Given the description of an element on the screen output the (x, y) to click on. 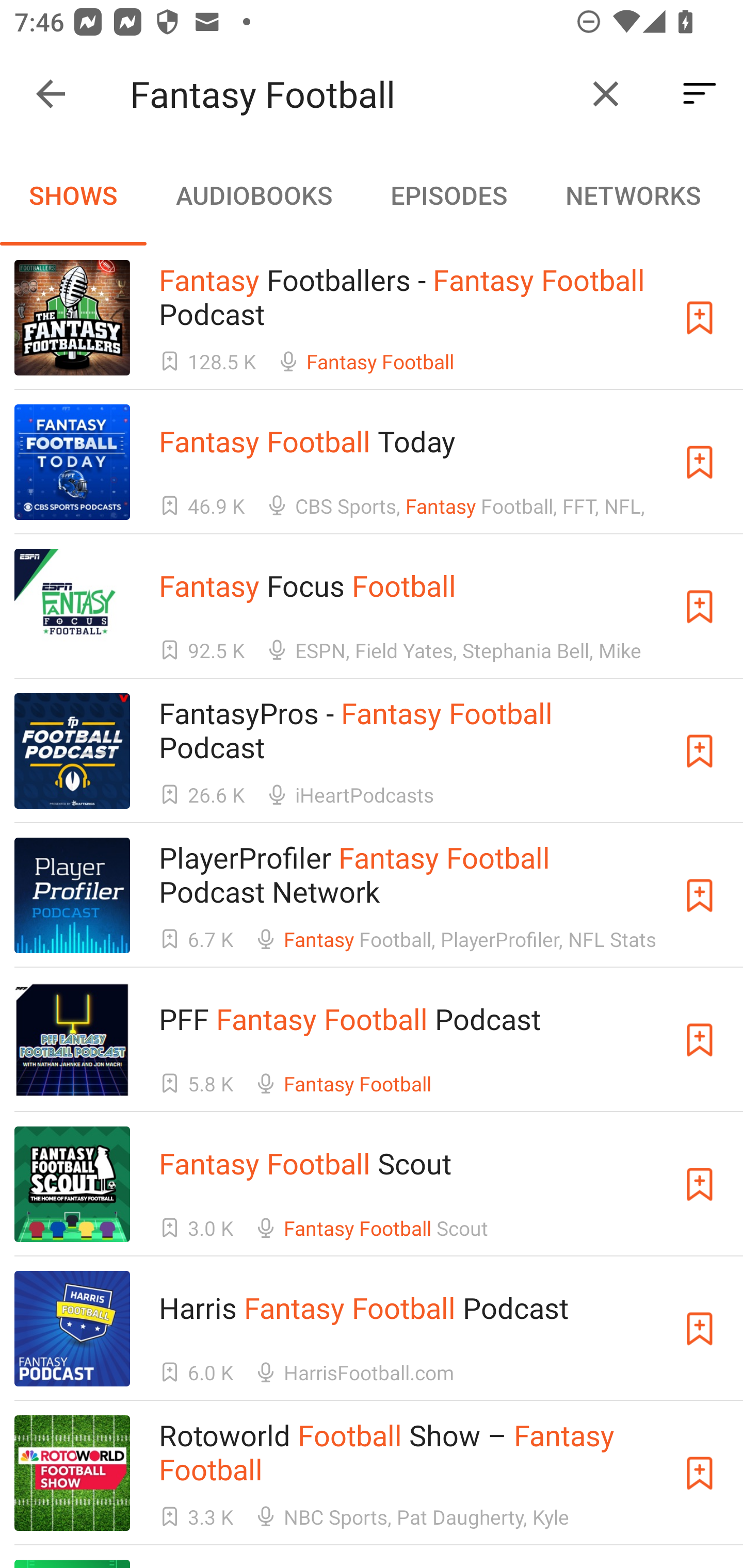
Collapse (50, 93)
Clear query (605, 93)
Sort By (699, 93)
Fantasy Football (349, 94)
SHOWS (73, 195)
AUDIOBOOKS (253, 195)
EPISODES (448, 195)
NETWORKS (632, 195)
Subscribe (699, 317)
Subscribe (699, 462)
Subscribe (699, 606)
Subscribe (699, 751)
Subscribe (699, 895)
Subscribe (699, 1039)
Subscribe (699, 1183)
Subscribe (699, 1328)
Subscribe (699, 1472)
